Given the description of an element on the screen output the (x, y) to click on. 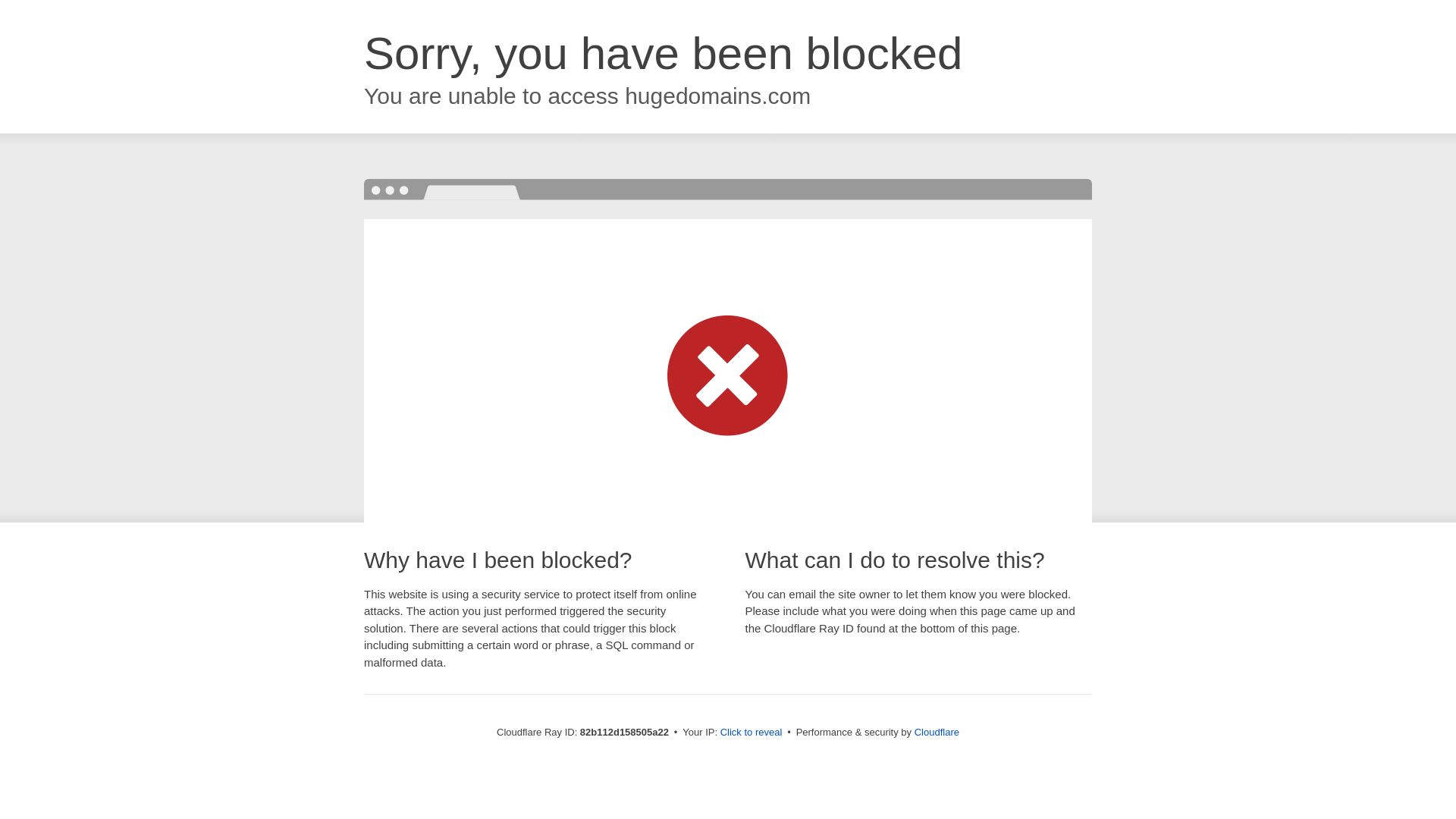
Cloudflare Element type: text (936, 731)
Click to reveal Element type: text (751, 732)
